Given the description of an element on the screen output the (x, y) to click on. 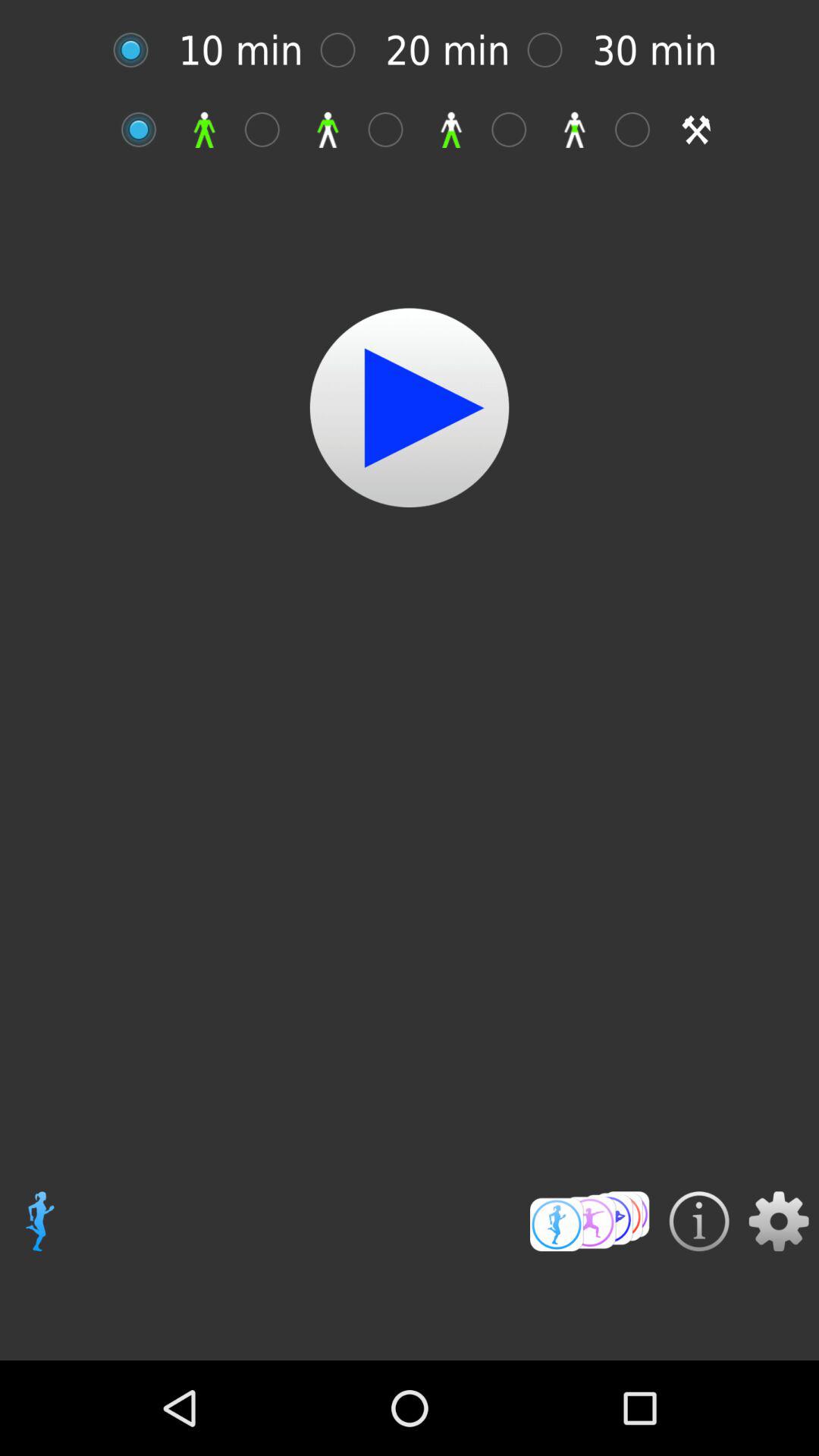
full body workout (146, 129)
